Given the description of an element on the screen output the (x, y) to click on. 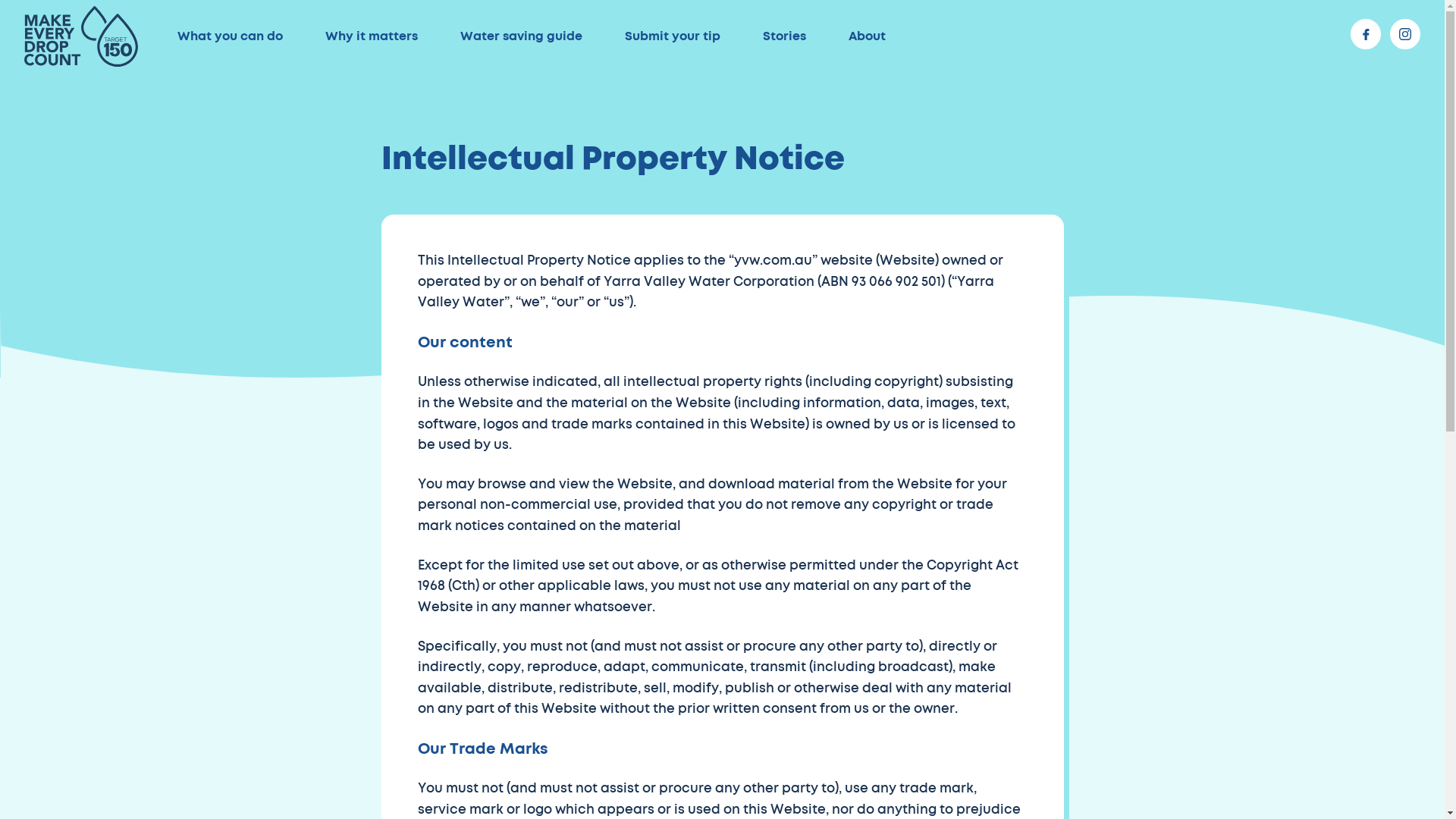
Why it matters Element type: text (371, 36)
Water saving guide Element type: text (521, 36)
Find us on instagram Element type: text (1405, 33)
Submit your tip Element type: text (672, 36)
About Element type: text (866, 36)
What you can do Element type: text (230, 36)
Stories Element type: text (784, 36)
Find us on facebook Element type: text (1365, 33)
